Given the description of an element on the screen output the (x, y) to click on. 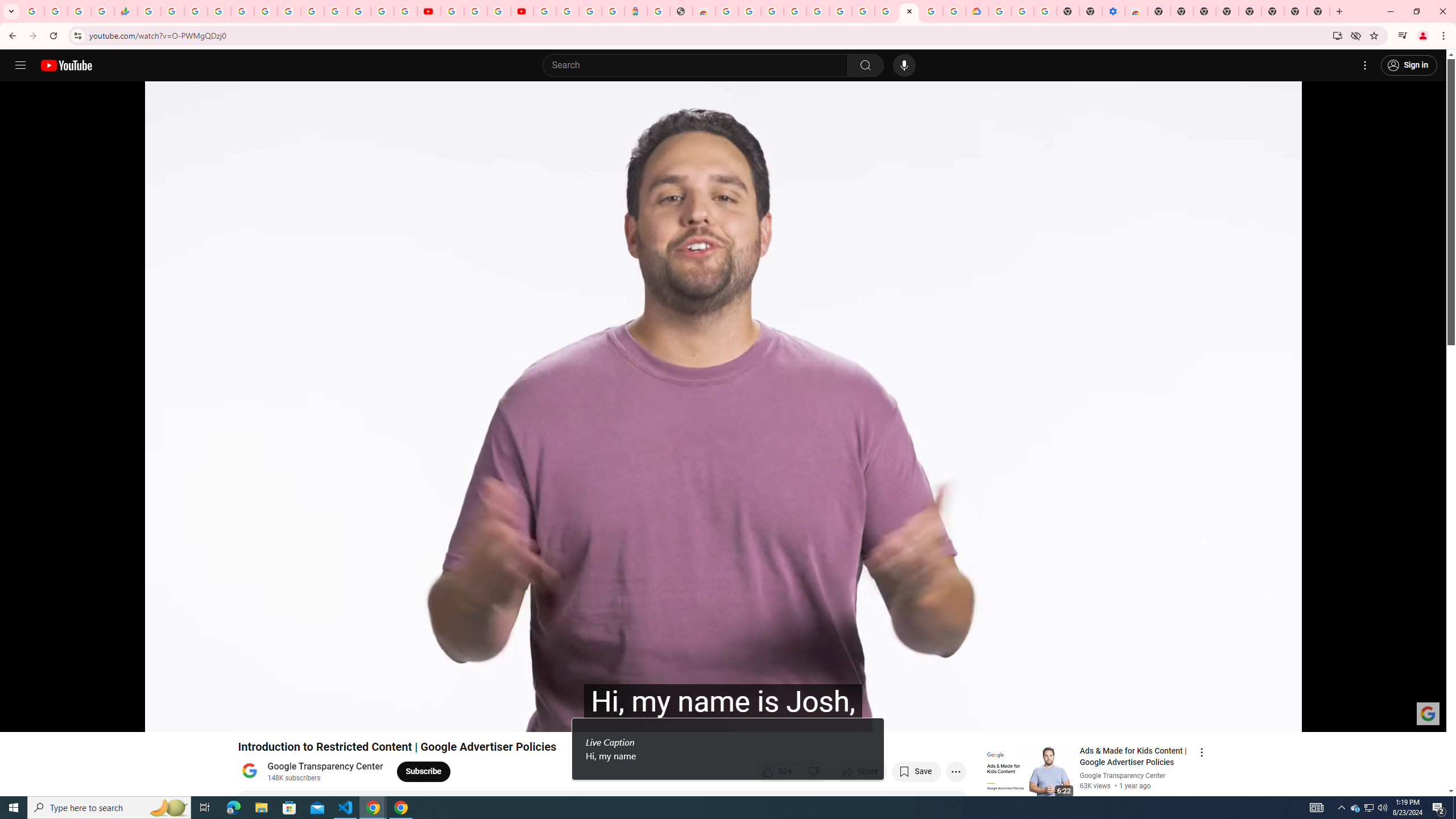
Ad Settings (794, 11)
Google Account Help (863, 11)
YouTube (451, 11)
Install YouTube (1336, 35)
YouTube Home (66, 65)
Sign in - Google Accounts (567, 11)
Google Account Help (475, 11)
